Given the description of an element on the screen output the (x, y) to click on. 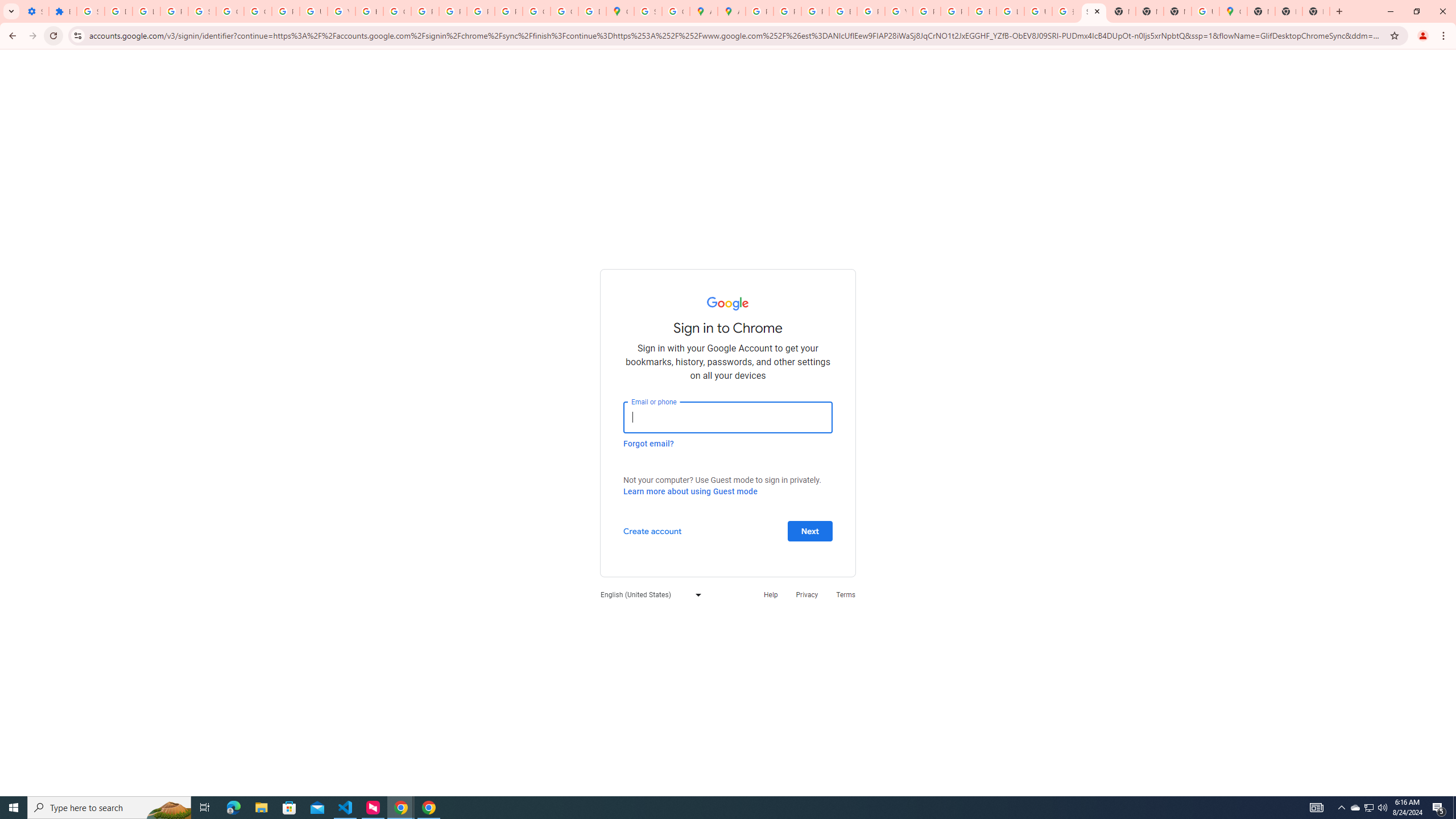
Forgot email? (648, 443)
Privacy Help Center - Policies Help (425, 11)
Google Account Help (229, 11)
Google Maps (620, 11)
Sign in - Google Accounts (202, 11)
